Given the description of an element on the screen output the (x, y) to click on. 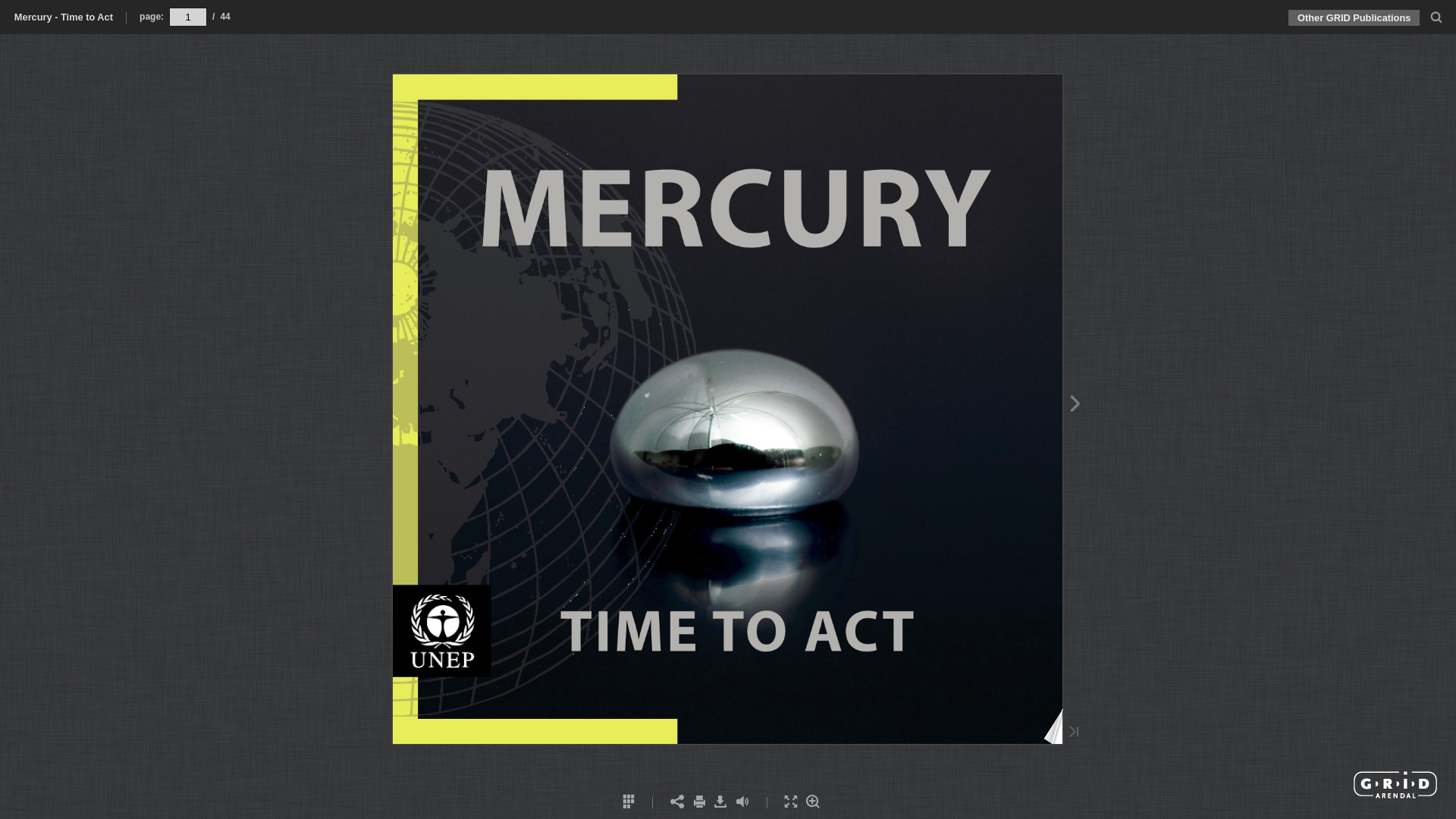
Share Element type: hover (676, 801)
Click to visit http://www.grida.no Element type: hover (1395, 784)
Download Element type: hover (720, 801)
Toggle Sound Element type: hover (742, 801)
Thumbnails Element type: hover (628, 801)
Print Element type: hover (698, 801)
Zoom In Element type: hover (813, 801)
Fullscreen Element type: hover (791, 801)
Other GRID Publications Element type: text (1353, 17)
